Given the description of an element on the screen output the (x, y) to click on. 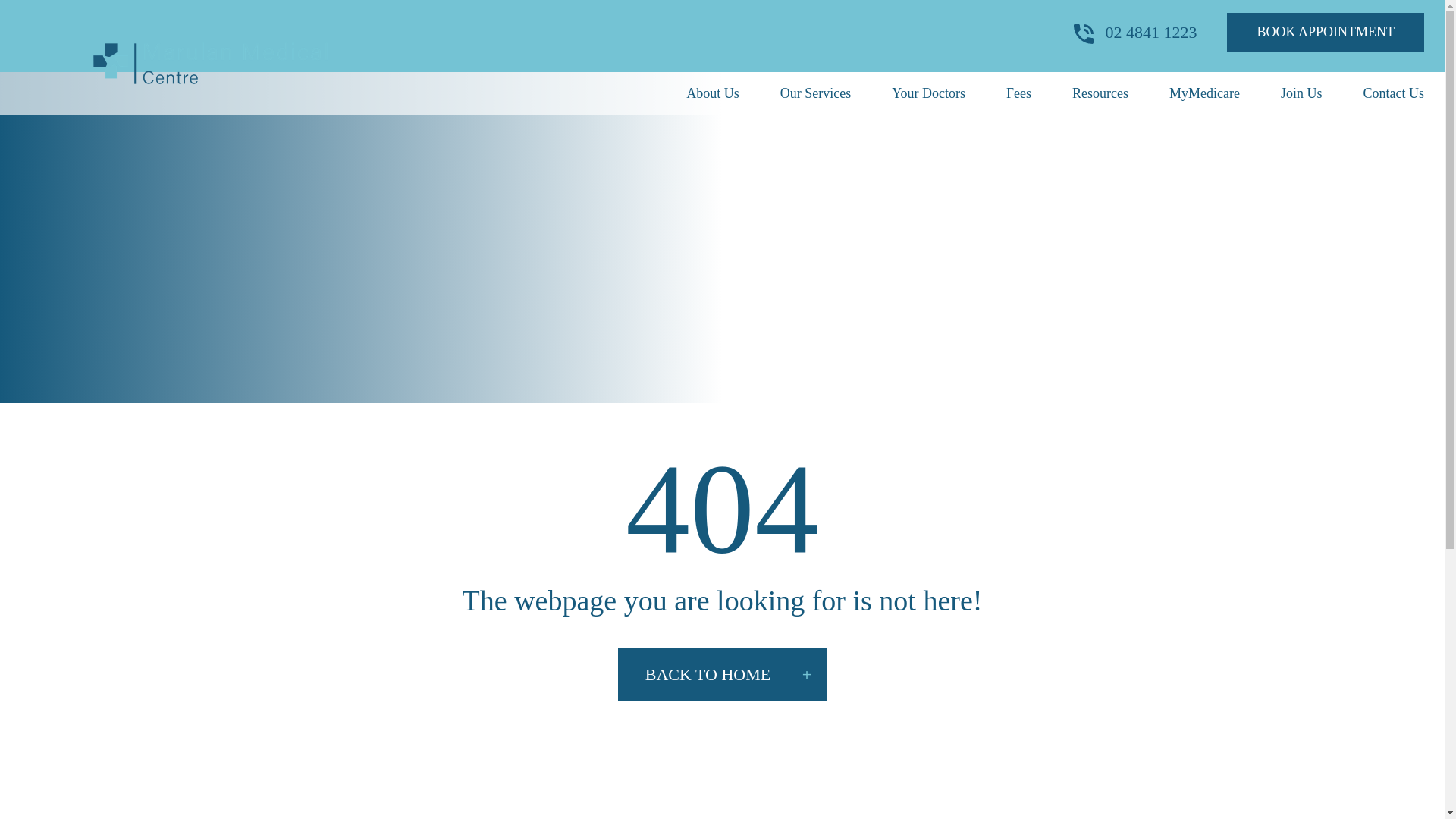
02 4841 1223 (1135, 31)
Your Doctors (928, 92)
Resources (1099, 92)
BACK TO HOME (722, 674)
About Us (712, 92)
Contact Us (1393, 92)
Our Services (815, 92)
Join Us (1301, 92)
Fees (1018, 92)
MyMedicare (1204, 92)
BOOK APPOINTMENT (1325, 32)
